Given the description of an element on the screen output the (x, y) to click on. 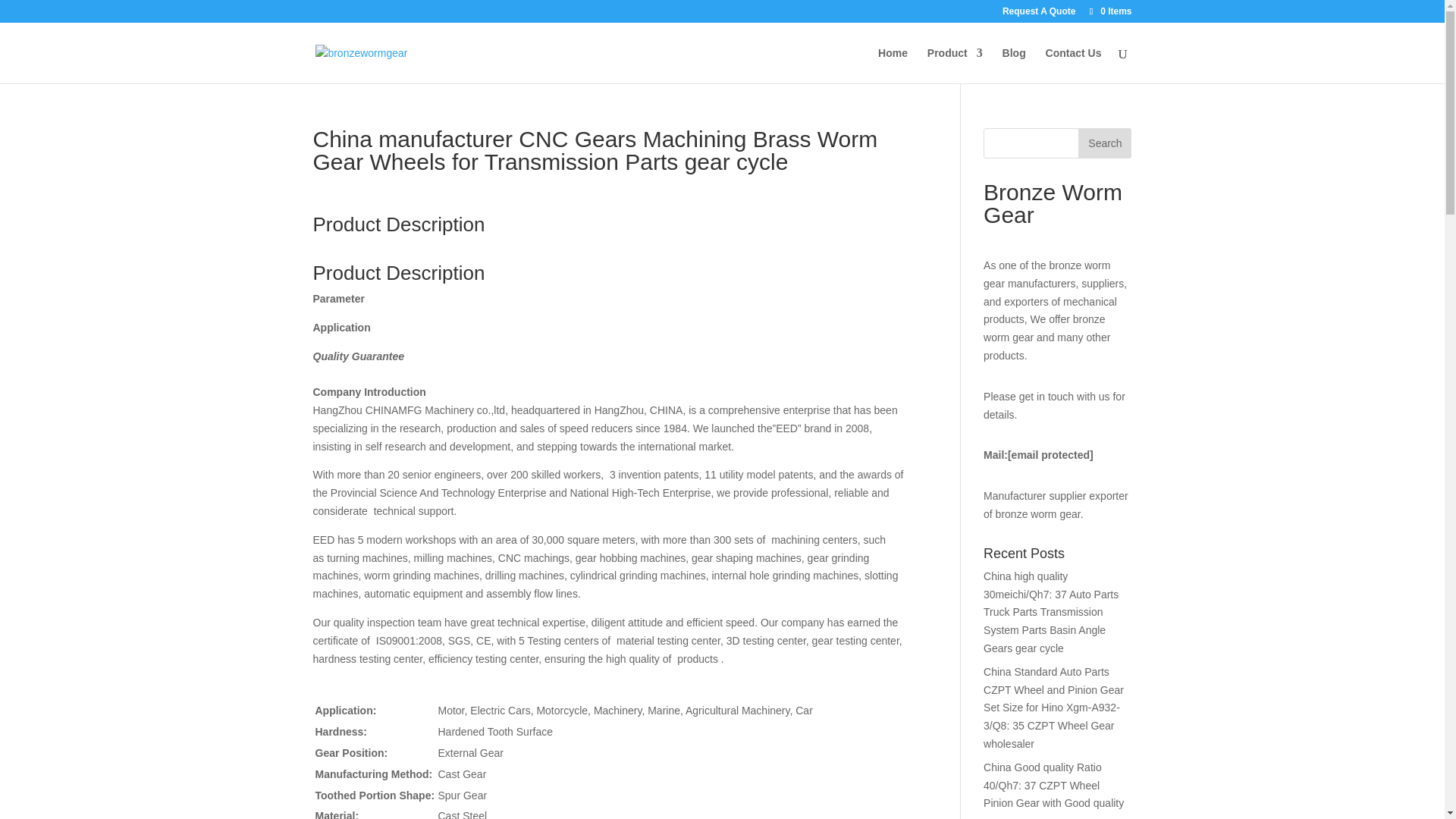
Search (1104, 142)
Contact Us (1073, 65)
Search (1104, 142)
Request A Quote (1039, 14)
Product (954, 65)
0 Items (1108, 10)
